Given the description of an element on the screen output the (x, y) to click on. 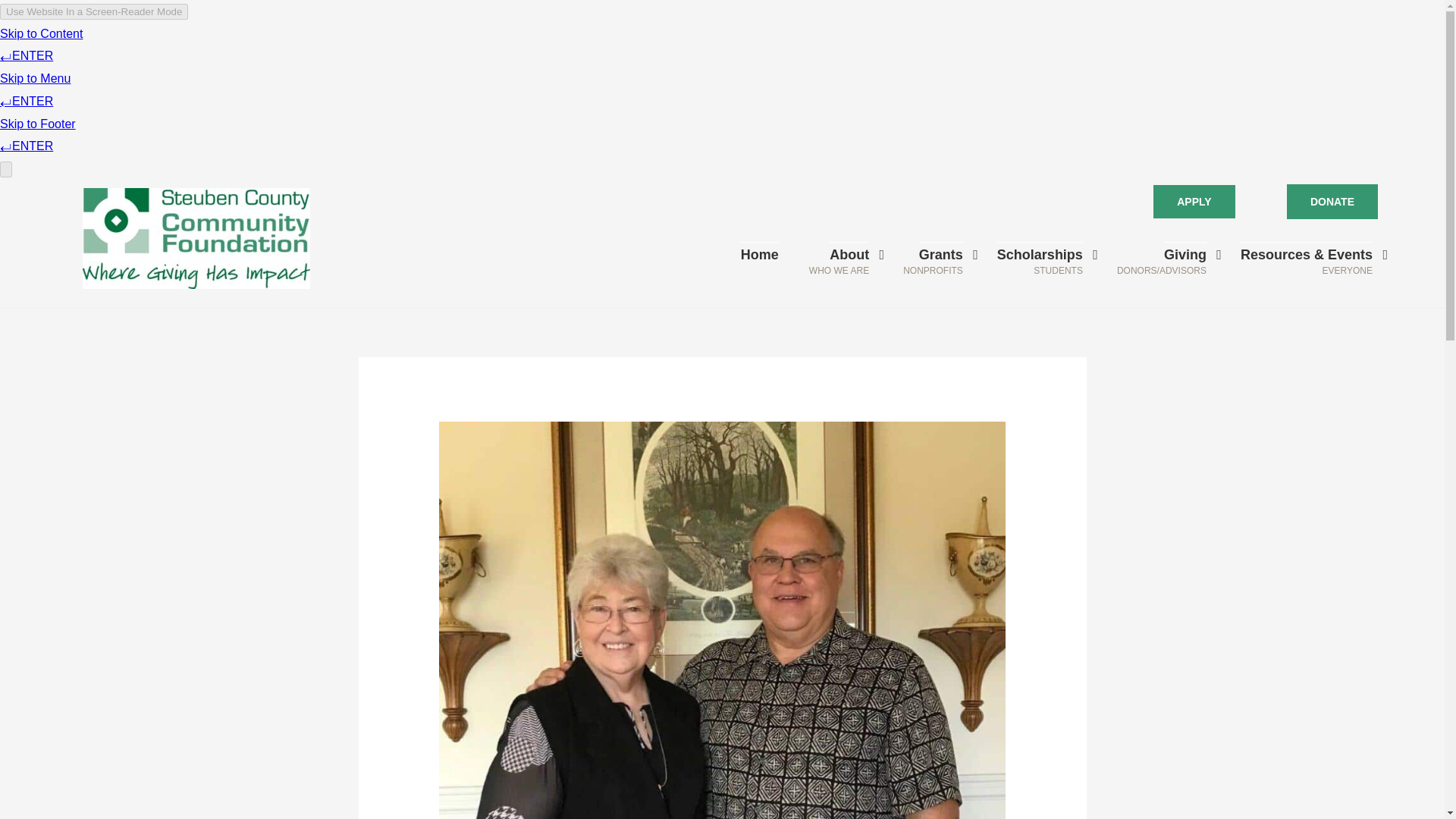
APPLY (1193, 201)
DONATE (1332, 201)
